Given the description of an element on the screen output the (x, y) to click on. 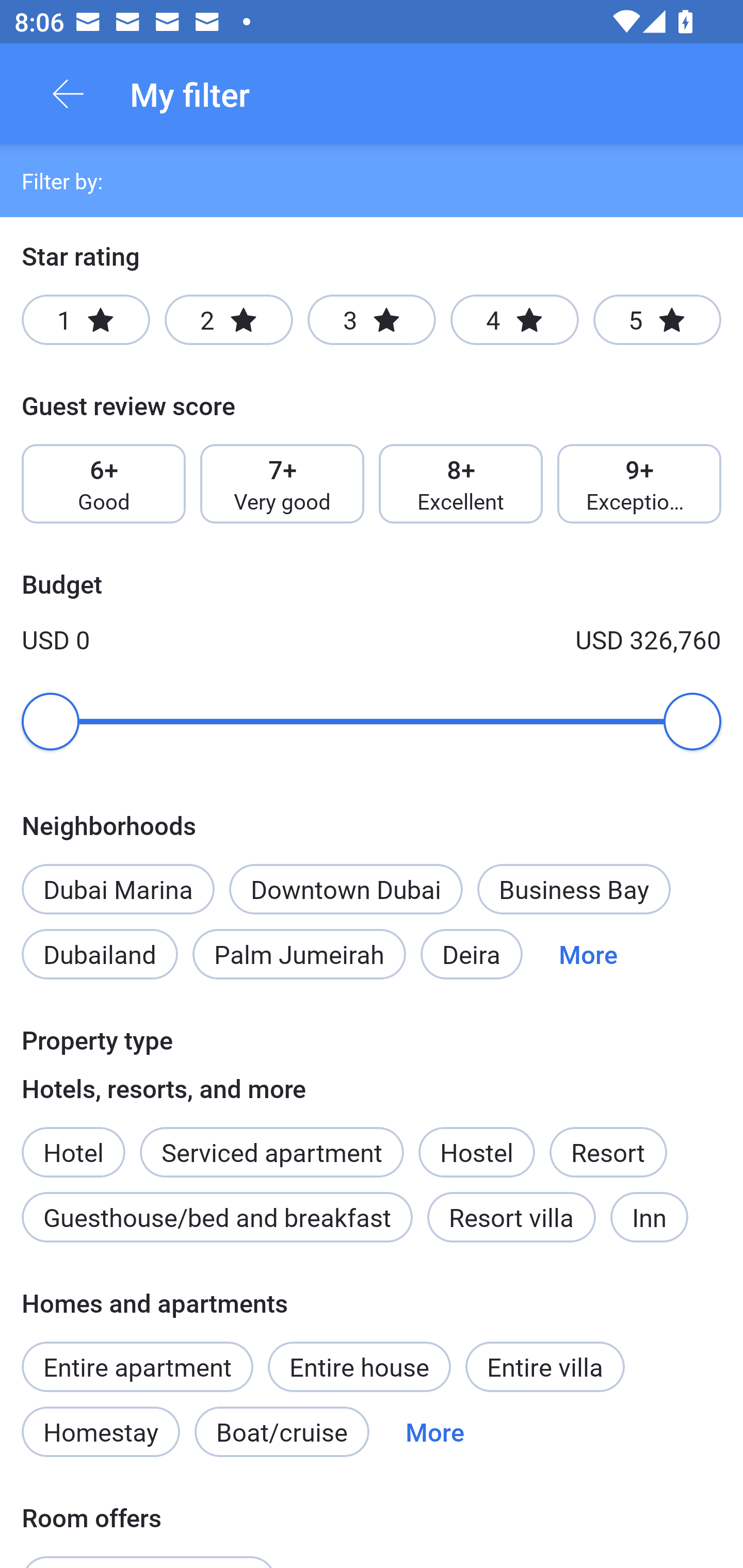
1 (85, 319)
2 (228, 319)
3 (371, 319)
4 (514, 319)
5 (657, 319)
6+ Good (103, 483)
7+ Very good (281, 483)
8+ Excellent (460, 483)
9+ Exceptional (639, 483)
Dubai Marina (117, 888)
Downtown Dubai (345, 888)
Business Bay (573, 888)
Dubailand (99, 954)
Palm Jumeirah (299, 954)
Deira (471, 954)
More (587, 954)
Hotel (73, 1141)
Serviced apartment (271, 1141)
Hostel (476, 1151)
Resort (608, 1151)
Guesthouse/bed and breakfast (217, 1217)
Resort villa (511, 1217)
Inn (649, 1217)
Entire apartment (137, 1366)
Entire house (359, 1366)
Entire villa (544, 1366)
Homestay (100, 1432)
Boat/cruise (281, 1432)
More (434, 1432)
